Given the description of an element on the screen output the (x, y) to click on. 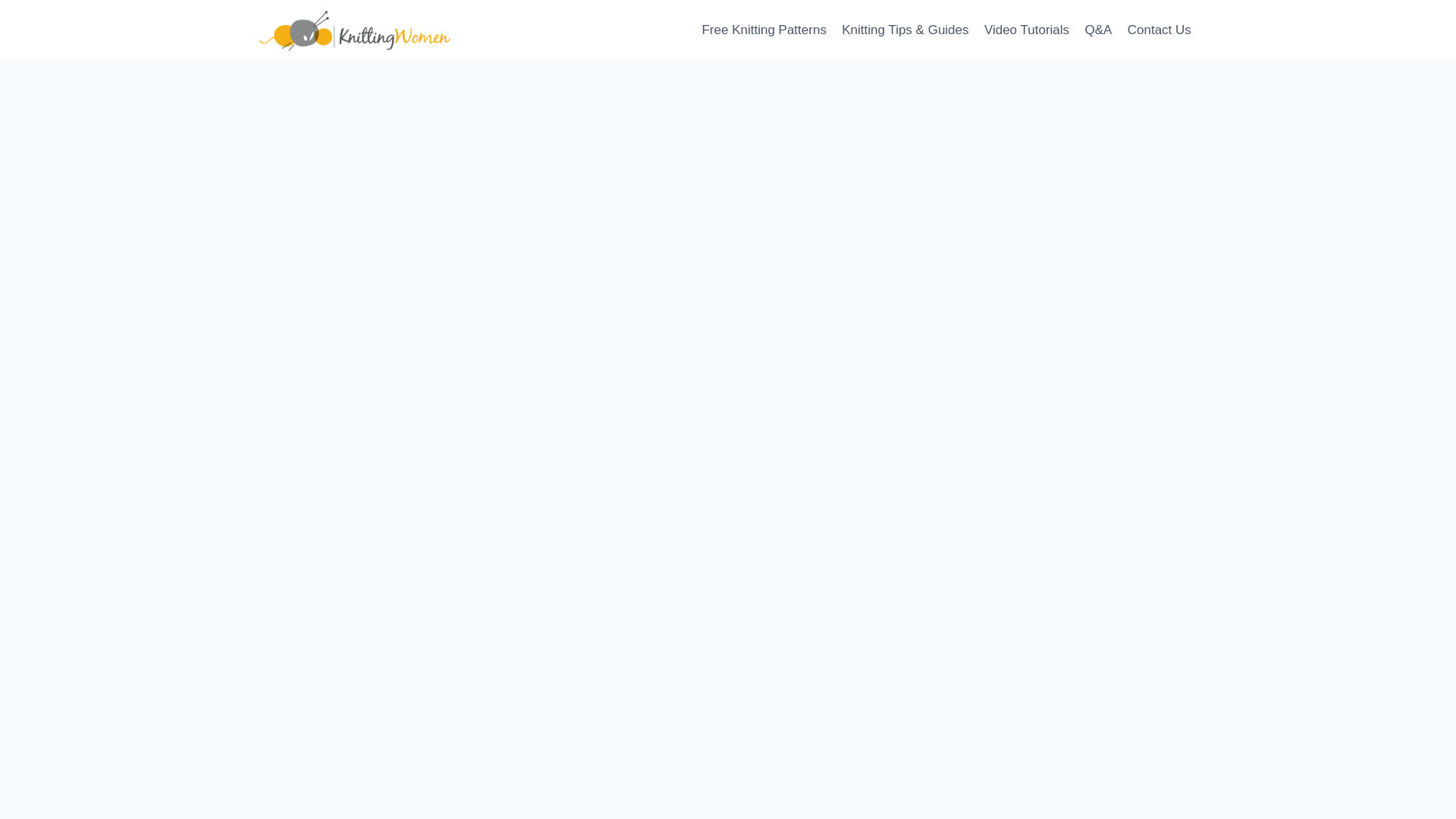
Contact Us (1158, 30)
Video Tutorials (1026, 30)
Free Knitting Patterns (764, 30)
